Given the description of an element on the screen output the (x, y) to click on. 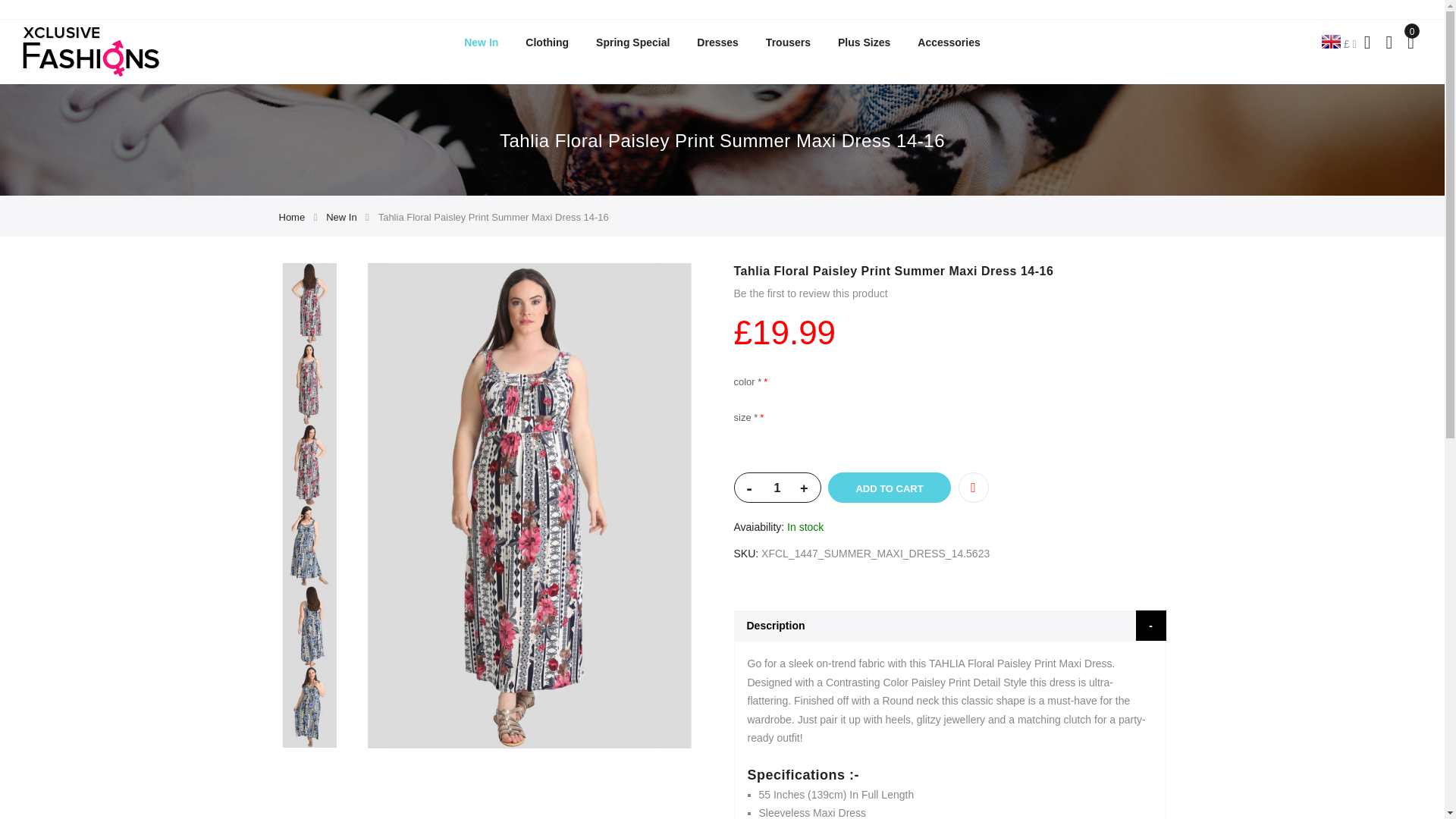
Go to Home Page (292, 216)
Clothing (547, 42)
1 (776, 488)
Xclusive Fashions (91, 51)
Dresses (717, 42)
Qty (776, 488)
New In (480, 42)
Trousers (788, 42)
Add to Cart (889, 487)
Spring Special (632, 42)
